Given the description of an element on the screen output the (x, y) to click on. 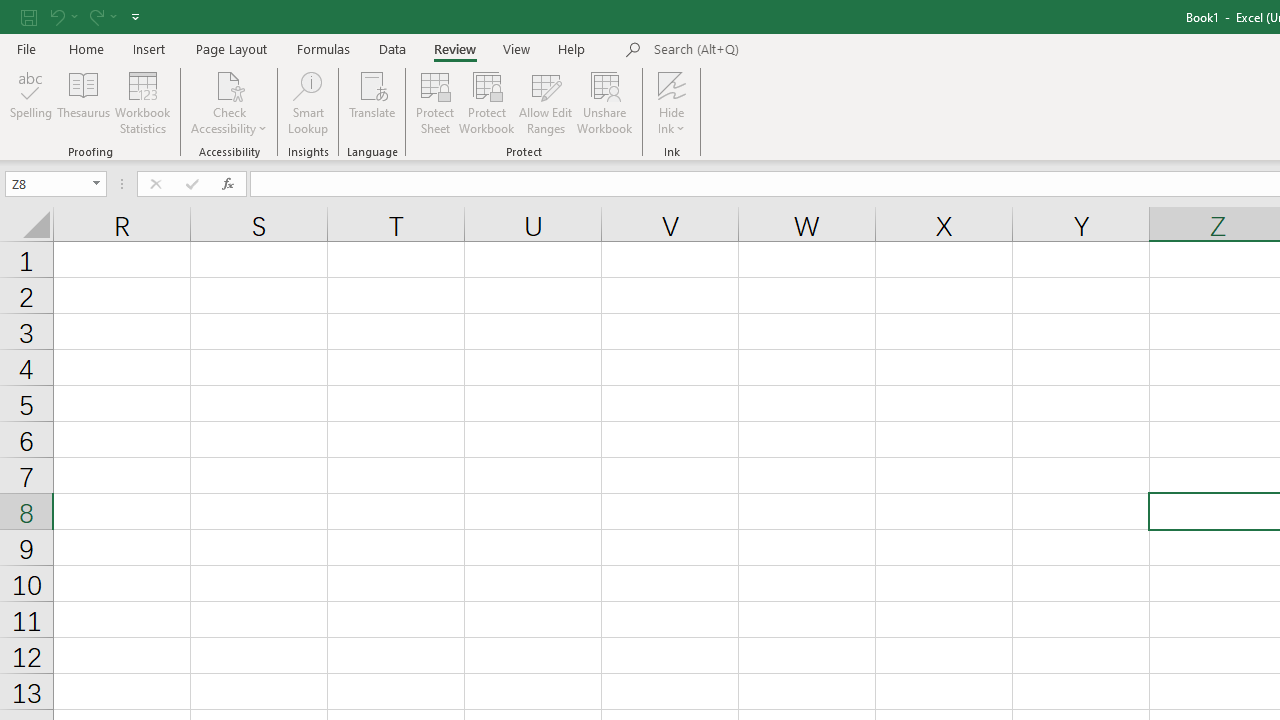
Translate (372, 102)
Unshare Workbook (604, 102)
